Given the description of an element on the screen output the (x, y) to click on. 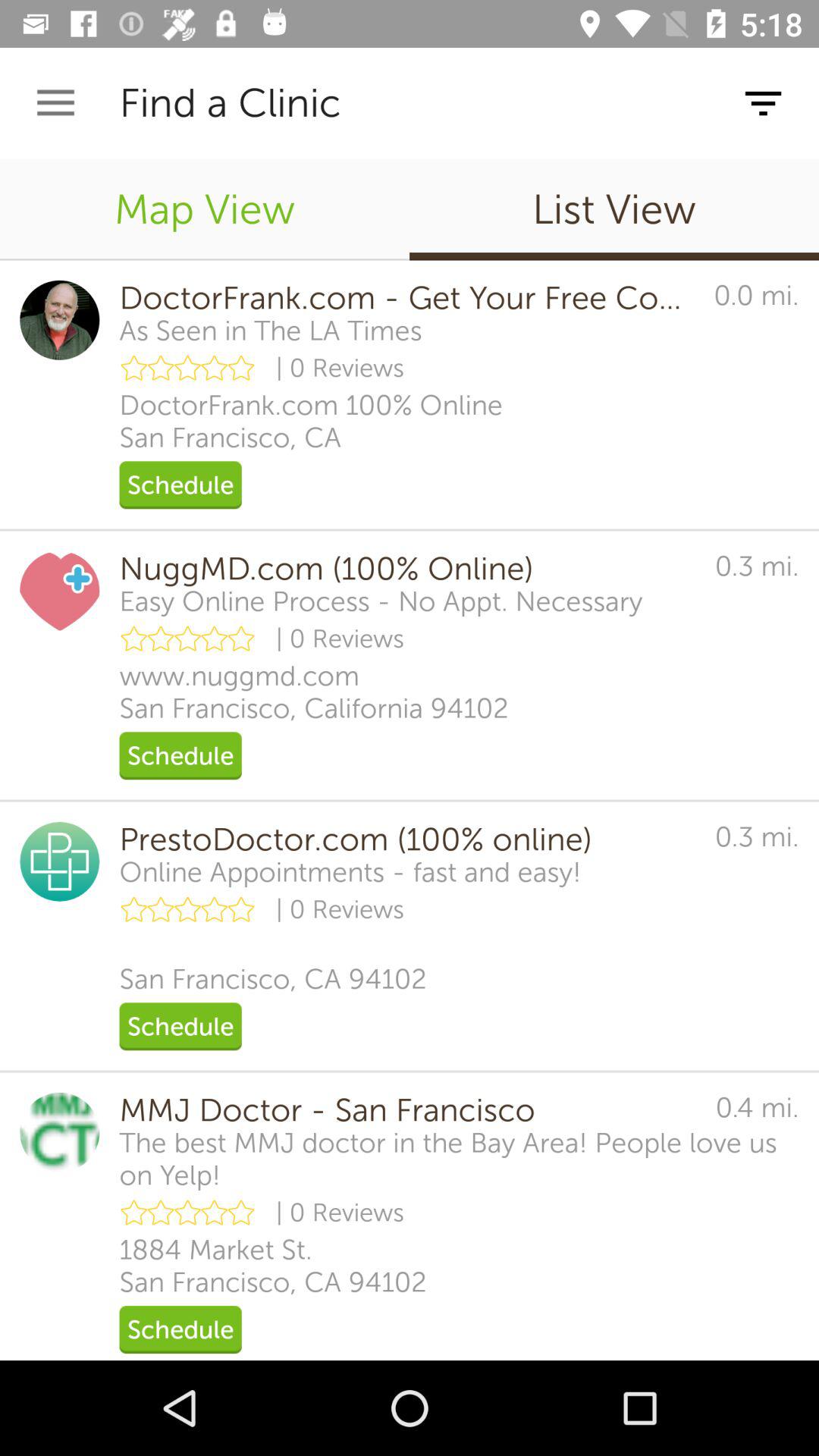
press list view (614, 209)
